Given the description of an element on the screen output the (x, y) to click on. 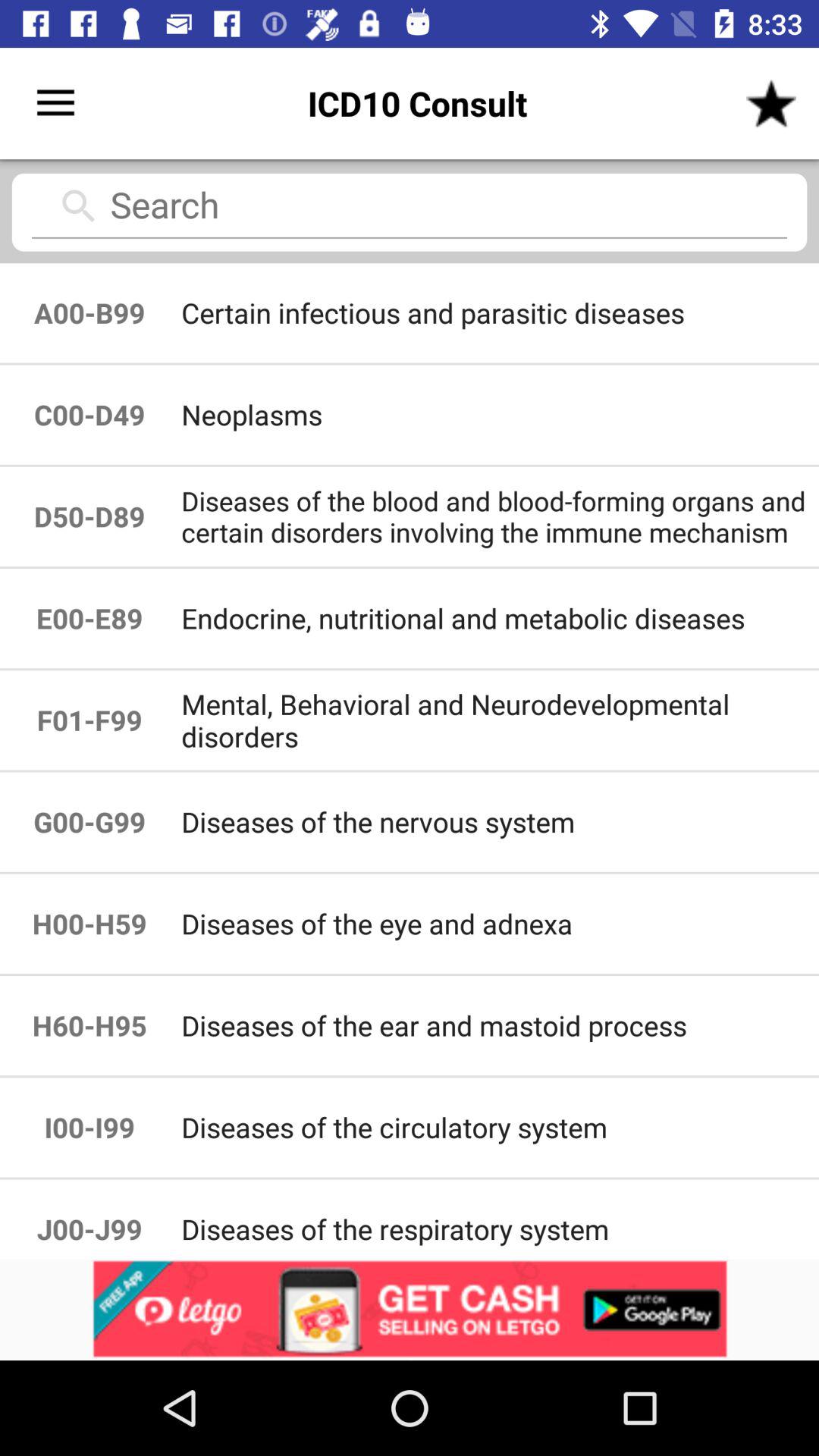
turn on the icon below e00-e89 (499, 720)
